Given the description of an element on the screen output the (x, y) to click on. 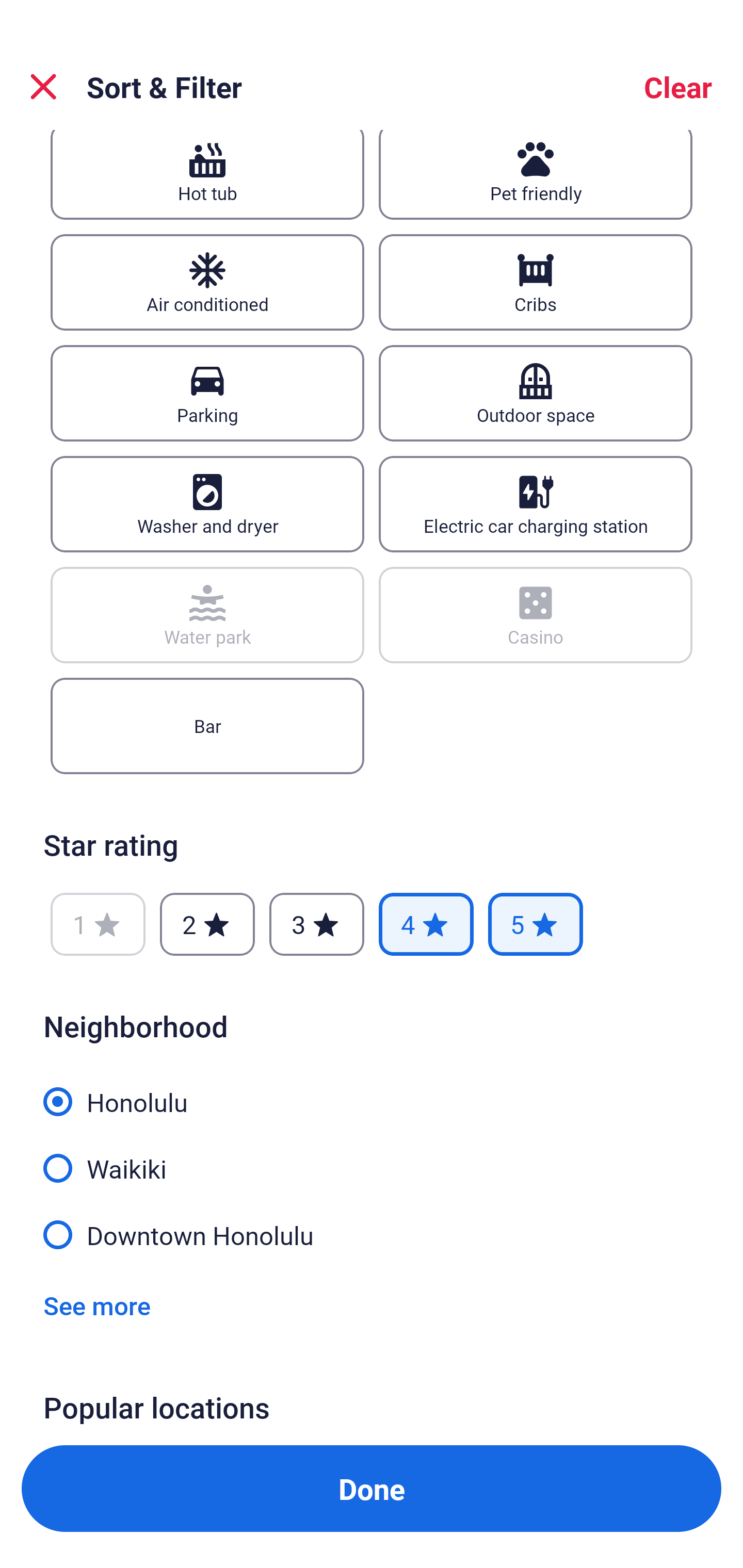
Close Sort and Filter (43, 86)
Clear (677, 86)
Hot tub (207, 174)
Pet friendly (535, 174)
Air conditioned (207, 281)
Cribs (535, 281)
Parking (207, 393)
Outdoor space (535, 393)
Washer and dryer (207, 503)
Electric car charging station (535, 503)
Water park (207, 615)
Casino (535, 615)
Bar (207, 725)
1 (97, 924)
2 (206, 924)
3 (316, 924)
4 (426, 924)
5 (535, 924)
Waikiki (371, 1157)
Downtown Honolulu (371, 1233)
See more See more neighborhoods Link (96, 1305)
Apply and close Sort and Filter Done (371, 1488)
